Given the description of an element on the screen output the (x, y) to click on. 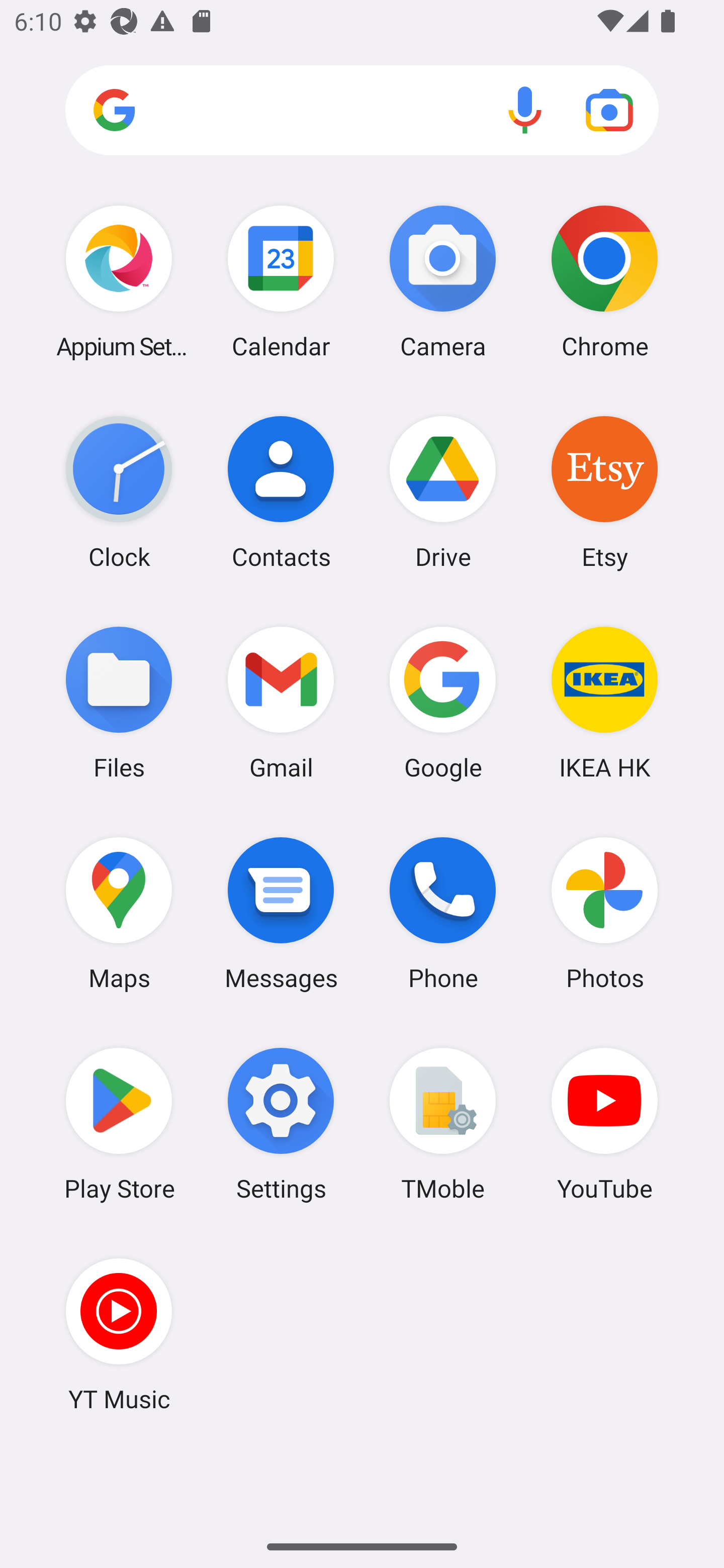
Search apps, web and more (361, 110)
Voice search (524, 109)
Google Lens (608, 109)
Appium Settings (118, 281)
Calendar (280, 281)
Camera (443, 281)
Chrome (604, 281)
Clock (118, 492)
Contacts (280, 492)
Drive (443, 492)
Etsy (604, 492)
Files (118, 702)
Gmail (280, 702)
Google (443, 702)
IKEA HK (604, 702)
Maps (118, 913)
Messages (280, 913)
Phone (443, 913)
Photos (604, 913)
Play Store (118, 1124)
Settings (280, 1124)
TMoble (443, 1124)
YouTube (604, 1124)
YT Music (118, 1334)
